Given the description of an element on the screen output the (x, y) to click on. 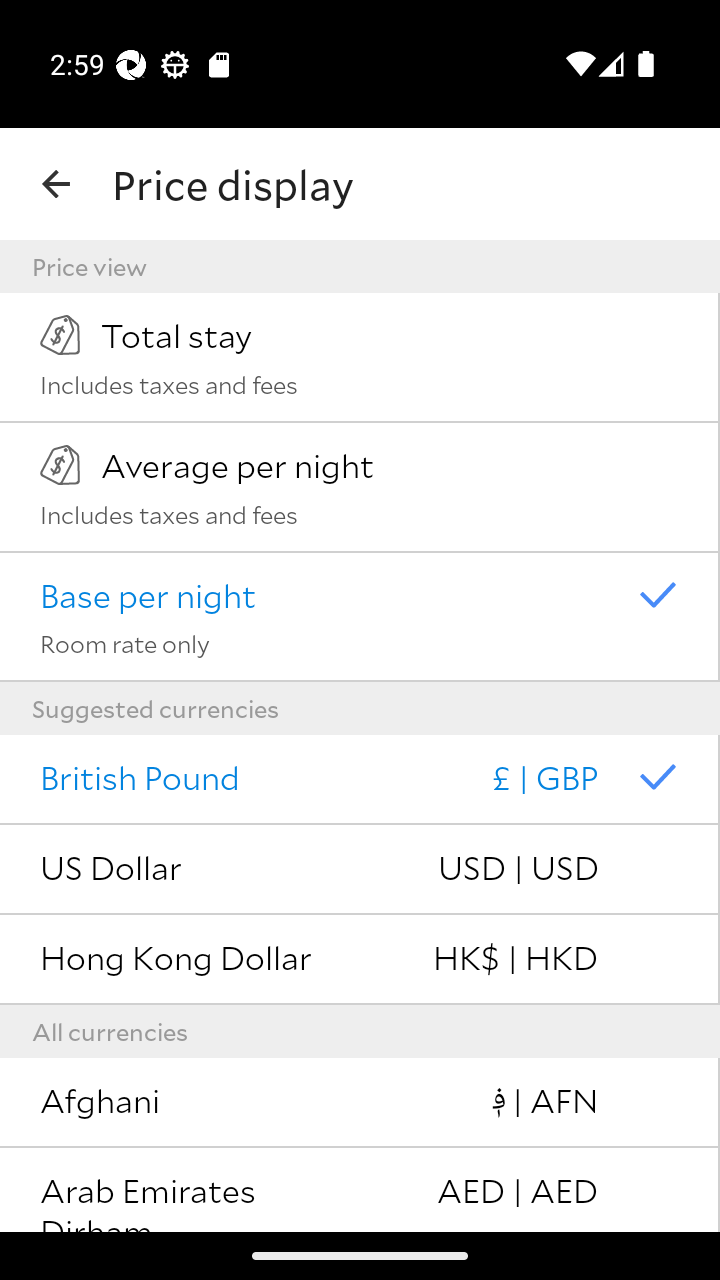
navigation_button (56, 184)
Average per night Includes taxes and fees (360, 487)
Base per night Room rate only (360, 617)
British Pound £ | GBP (360, 779)
US Dollar USD | USD (360, 870)
Hong Kong Dollar HK$ | HKD (360, 959)
Afghani ‎؋ | AFN (360, 1103)
Arab Emirates Dirham AED | AED (360, 1189)
